Given the description of an element on the screen output the (x, y) to click on. 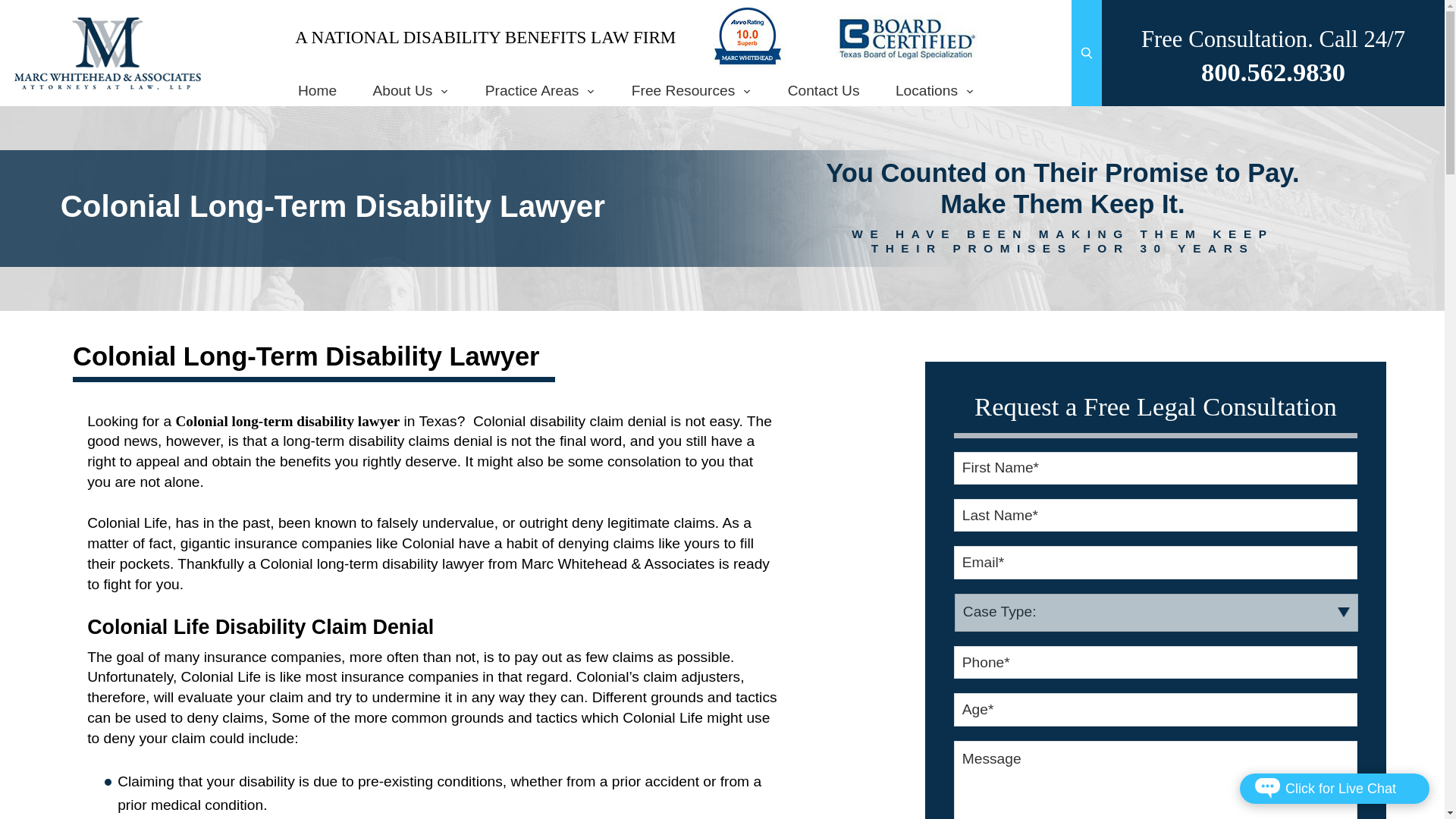
Locations (935, 90)
Contact Us (824, 90)
About Us (410, 90)
Home (317, 90)
Free Resources (692, 90)
Practice Areas (540, 90)
Disability Denials (107, 60)
